Given the description of an element on the screen output the (x, y) to click on. 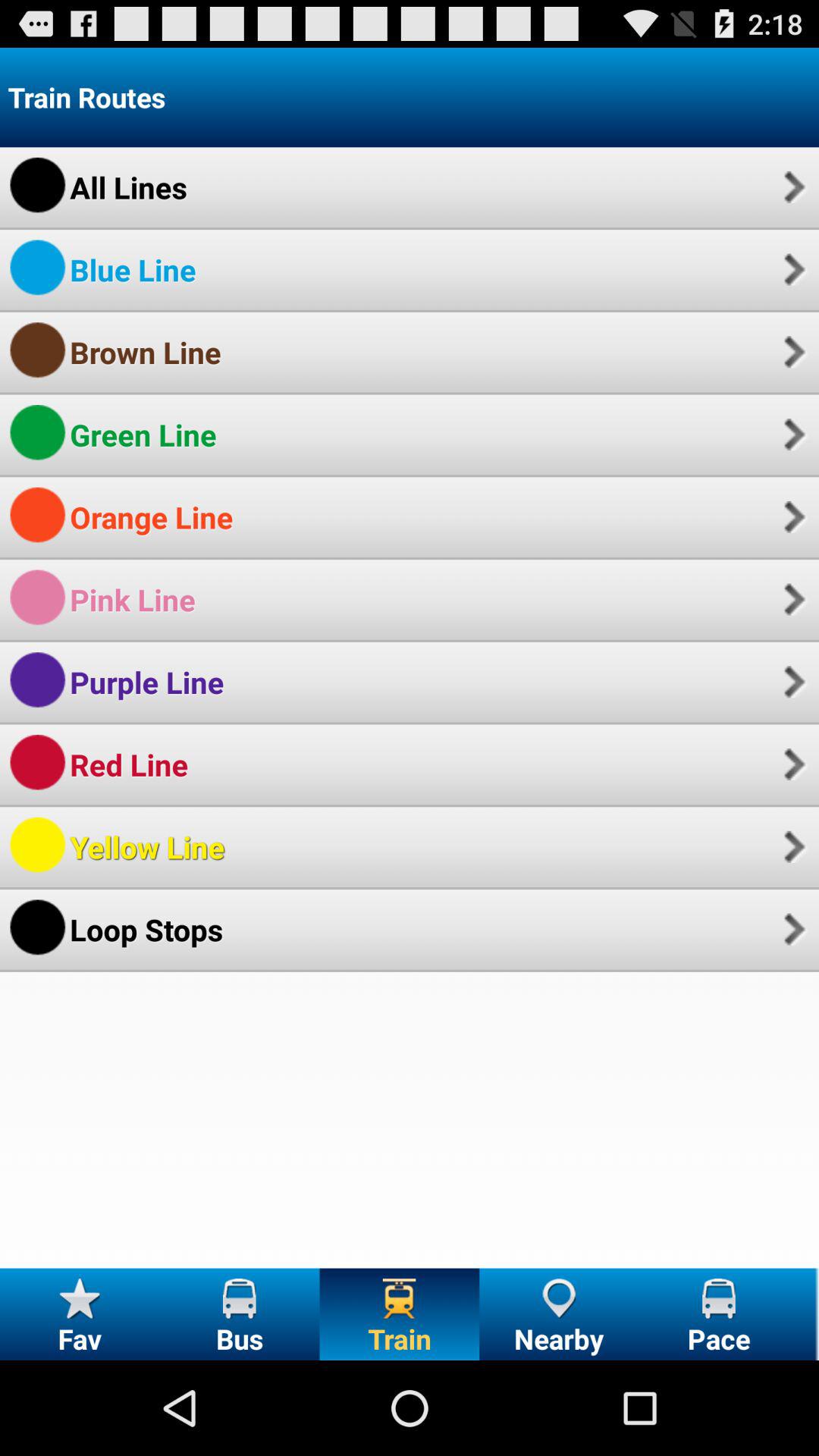
choose the app below the train routes icon (792, 187)
